Given the description of an element on the screen output the (x, y) to click on. 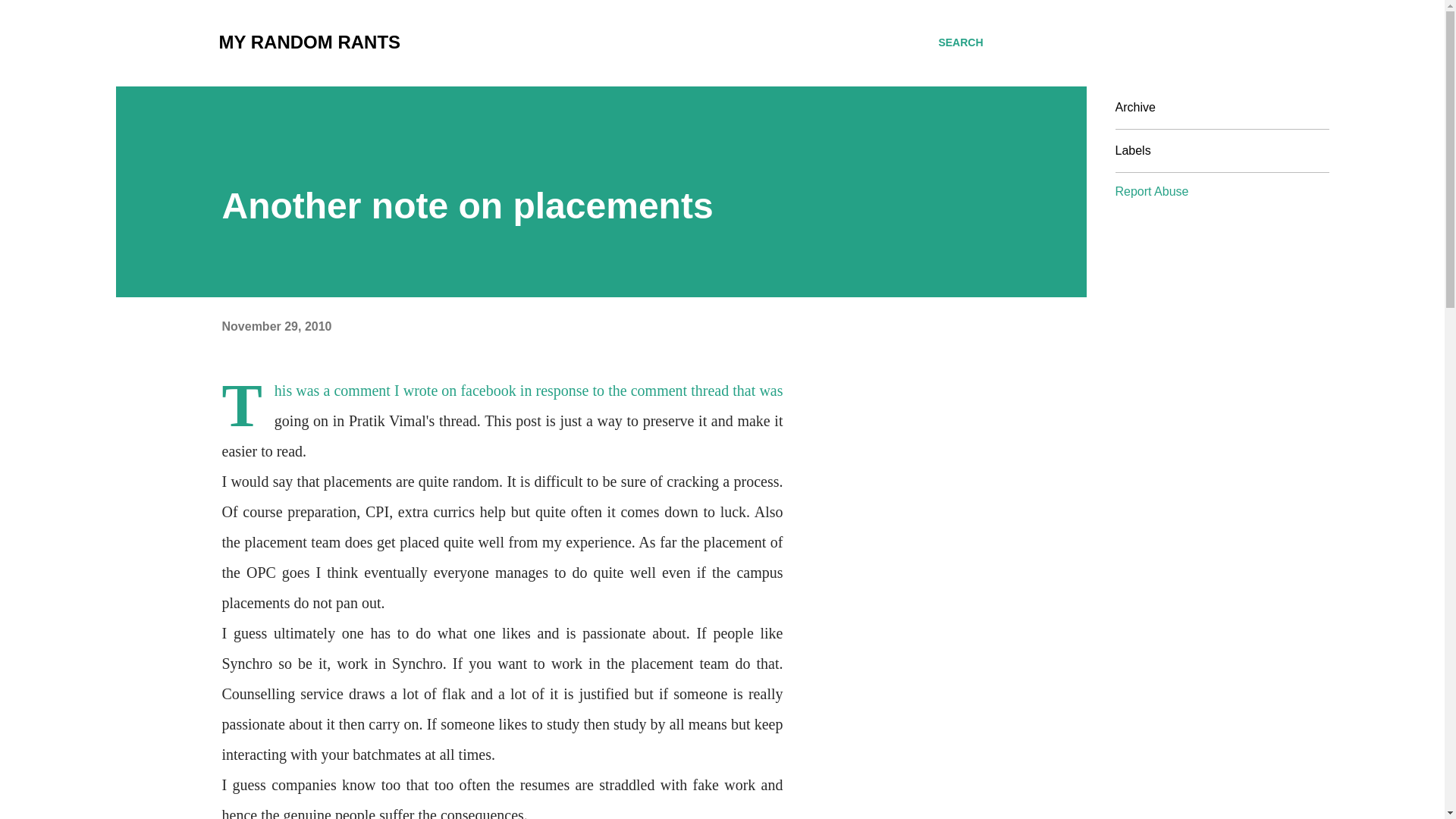
permanent link (276, 326)
November 29, 2010 (276, 326)
SEARCH (959, 42)
MY RANDOM RANTS (309, 41)
